Given the description of an element on the screen output the (x, y) to click on. 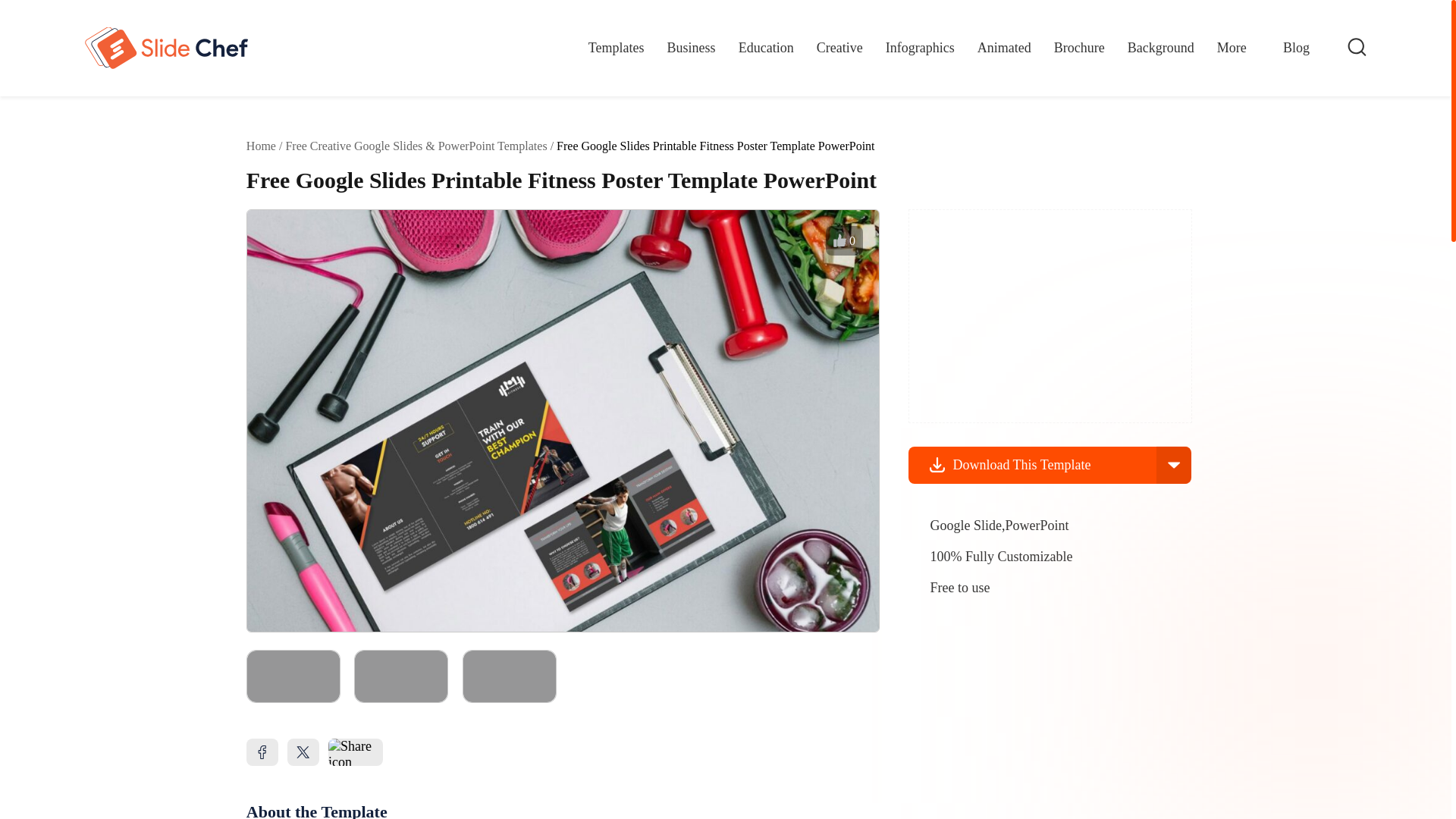
Advertisement (1050, 315)
Background (1159, 47)
Brochure (1079, 47)
Blog (1295, 47)
Infographics (920, 47)
Education (765, 47)
More (1238, 53)
Animated (1003, 47)
Advertisement (1021, 719)
Business (691, 47)
